Given the description of an element on the screen output the (x, y) to click on. 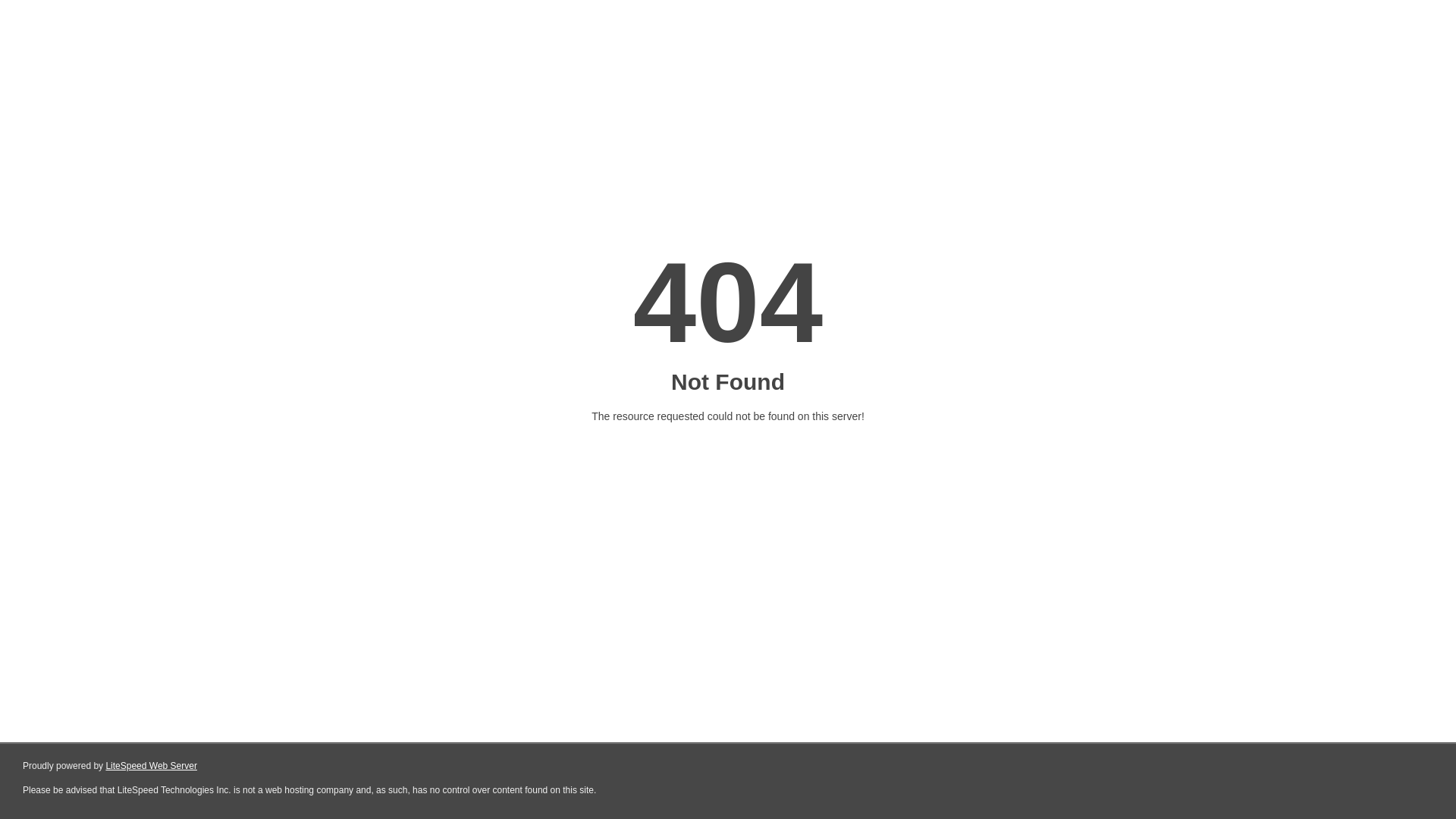
LiteSpeed Web Server Element type: text (151, 765)
